Given the description of an element on the screen output the (x, y) to click on. 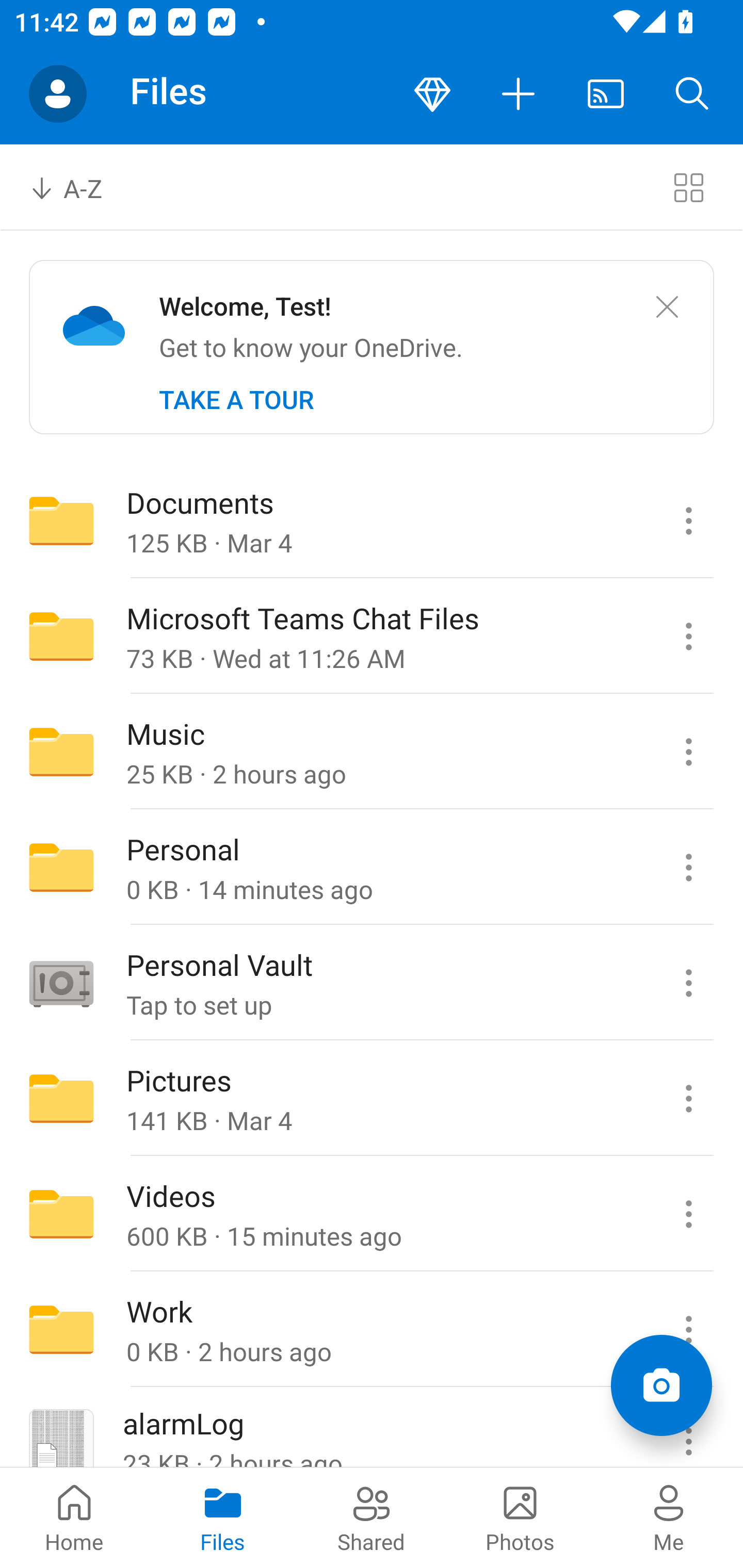
Account switcher (57, 93)
Cast. Disconnected (605, 93)
Premium button (432, 93)
More actions button (518, 93)
Search button (692, 93)
A-Z Sort by combo box, sort by name, A to Z (80, 187)
Switch to tiles view (688, 187)
Close (667, 307)
TAKE A TOUR (236, 399)
Folder Documents 125 KB · Mar 4 Documents commands (371, 520)
Documents commands (688, 520)
Microsoft Teams Chat Files commands (688, 636)
Folder Music 25 KB · 2 hours ago Music commands (371, 751)
Music commands (688, 751)
Personal commands (688, 867)
Personal Vault commands (688, 983)
Folder Pictures 141 KB · Mar 4 Pictures commands (371, 1099)
Pictures commands (688, 1099)
Videos commands (688, 1214)
Folder Work 0 KB · 2 hours ago Work commands (371, 1329)
Work commands (688, 1329)
Add items Scan (660, 1385)
alarmLog commands (688, 1427)
Home pivot Home (74, 1517)
Shared pivot Shared (371, 1517)
Photos pivot Photos (519, 1517)
Me pivot Me (668, 1517)
